Given the description of an element on the screen output the (x, y) to click on. 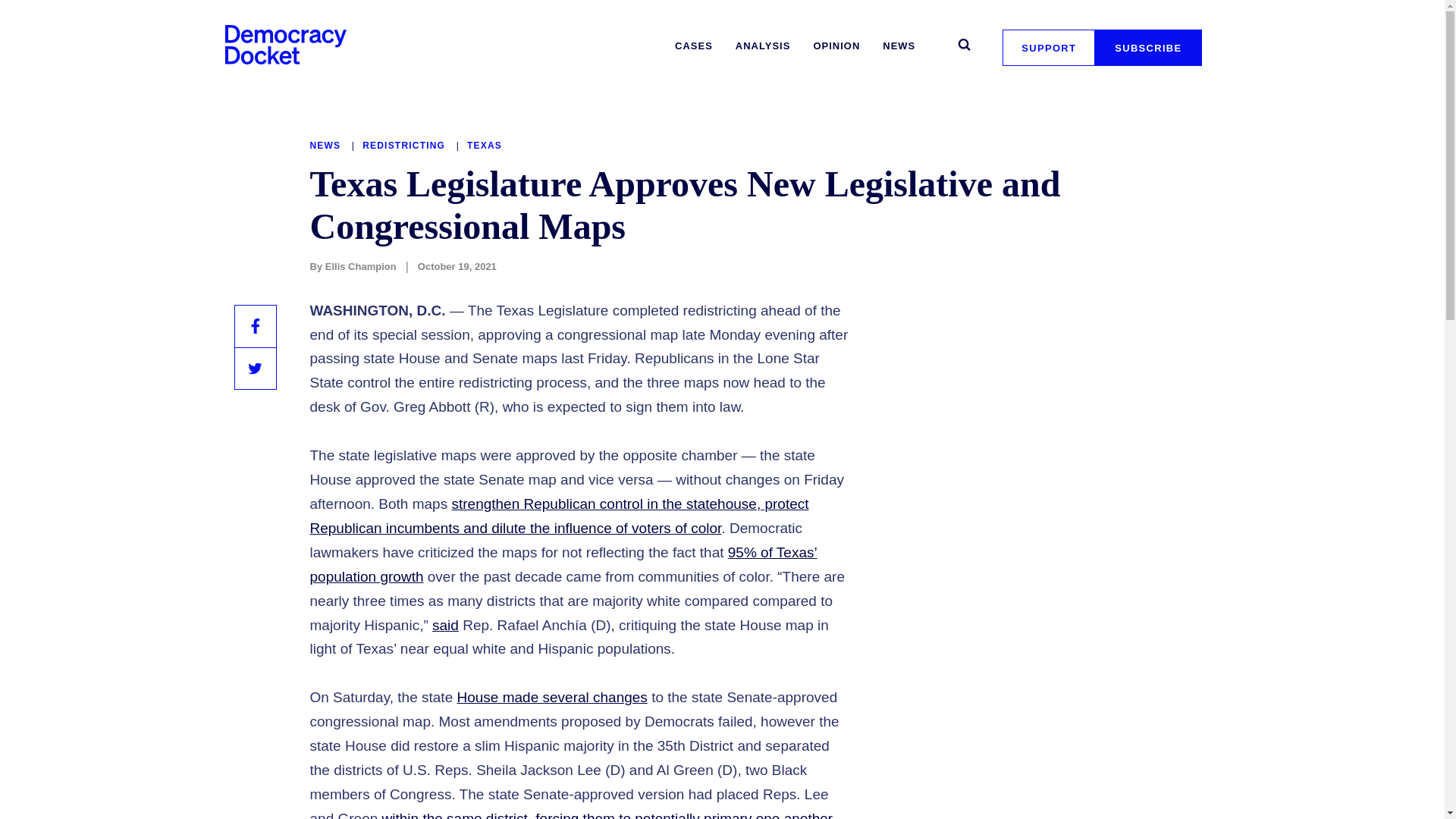
Democracy Docket (285, 44)
SUPPORT (1048, 47)
ANALYSIS (762, 46)
SEARCH (963, 44)
NEWS (898, 46)
said (445, 625)
OPINION (836, 46)
CASES (693, 46)
Share on Facebook (254, 325)
Ellis Champion (360, 266)
House made several changes (551, 697)
SUBSCRIBE (1147, 47)
TEXAS (484, 145)
